Given the description of an element on the screen output the (x, y) to click on. 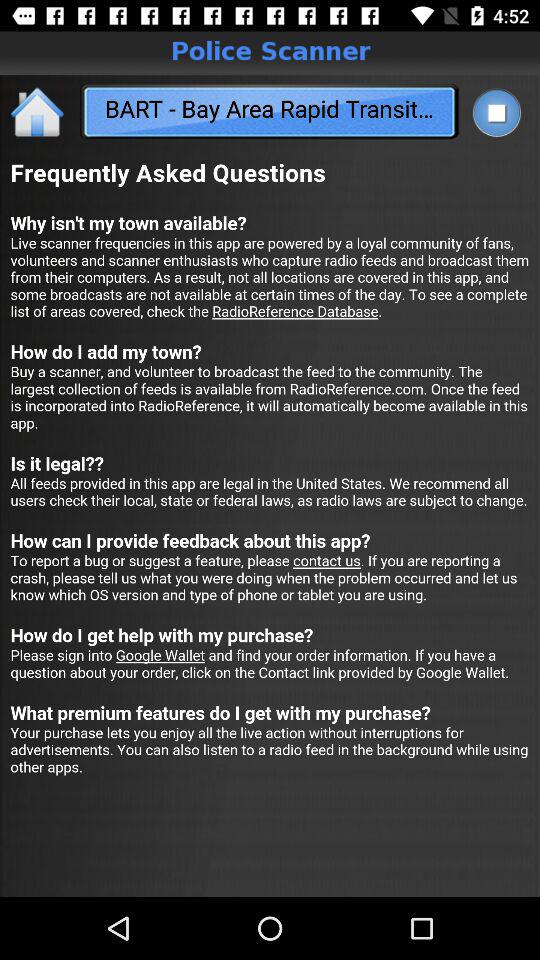
go to the homepage (38, 111)
